Given the description of an element on the screen output the (x, y) to click on. 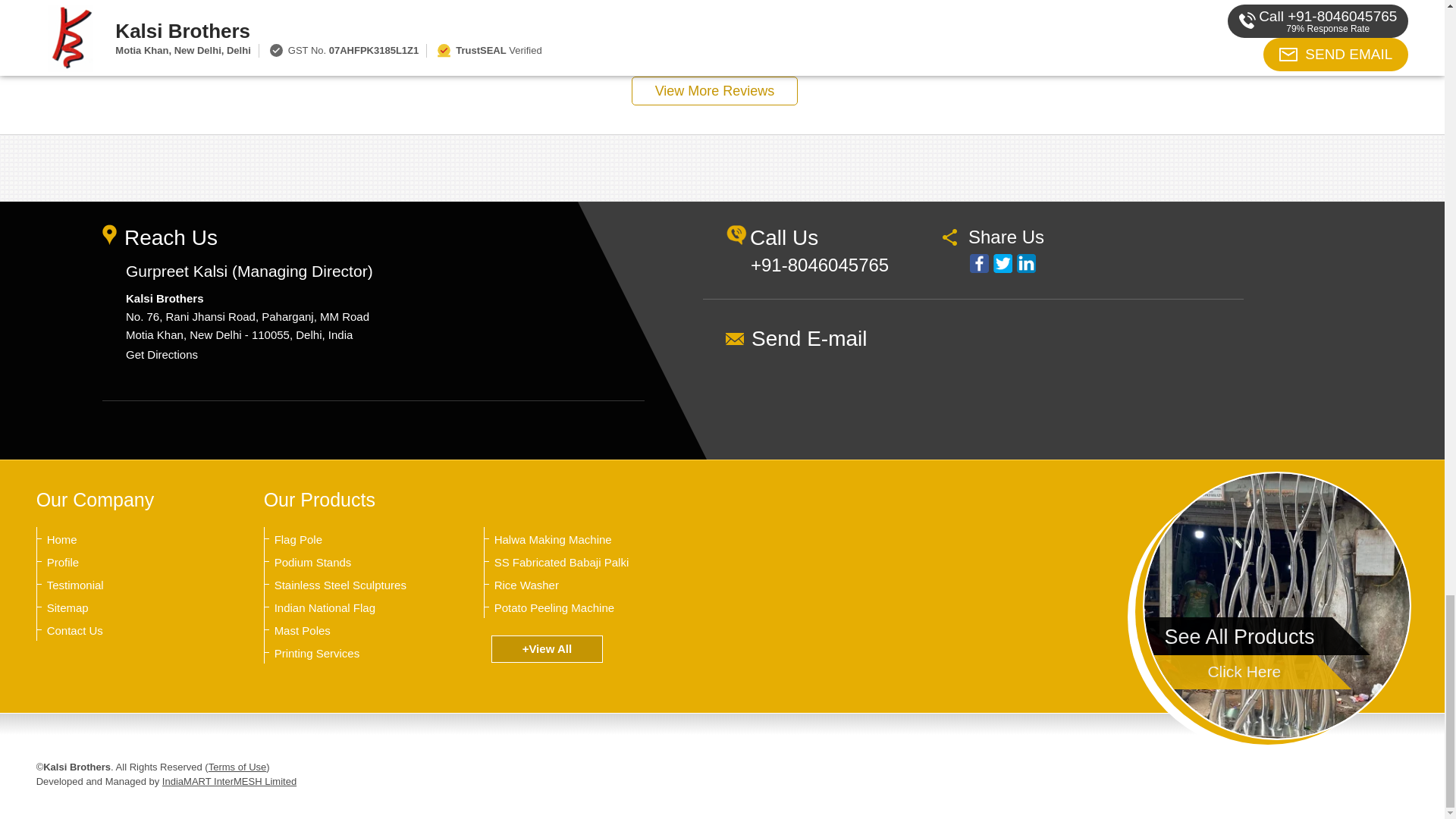
View More Reviews (714, 90)
Facebook (978, 262)
LinkedIn (1025, 262)
Twitter (1001, 262)
Get Directions (161, 354)
